Given the description of an element on the screen output the (x, y) to click on. 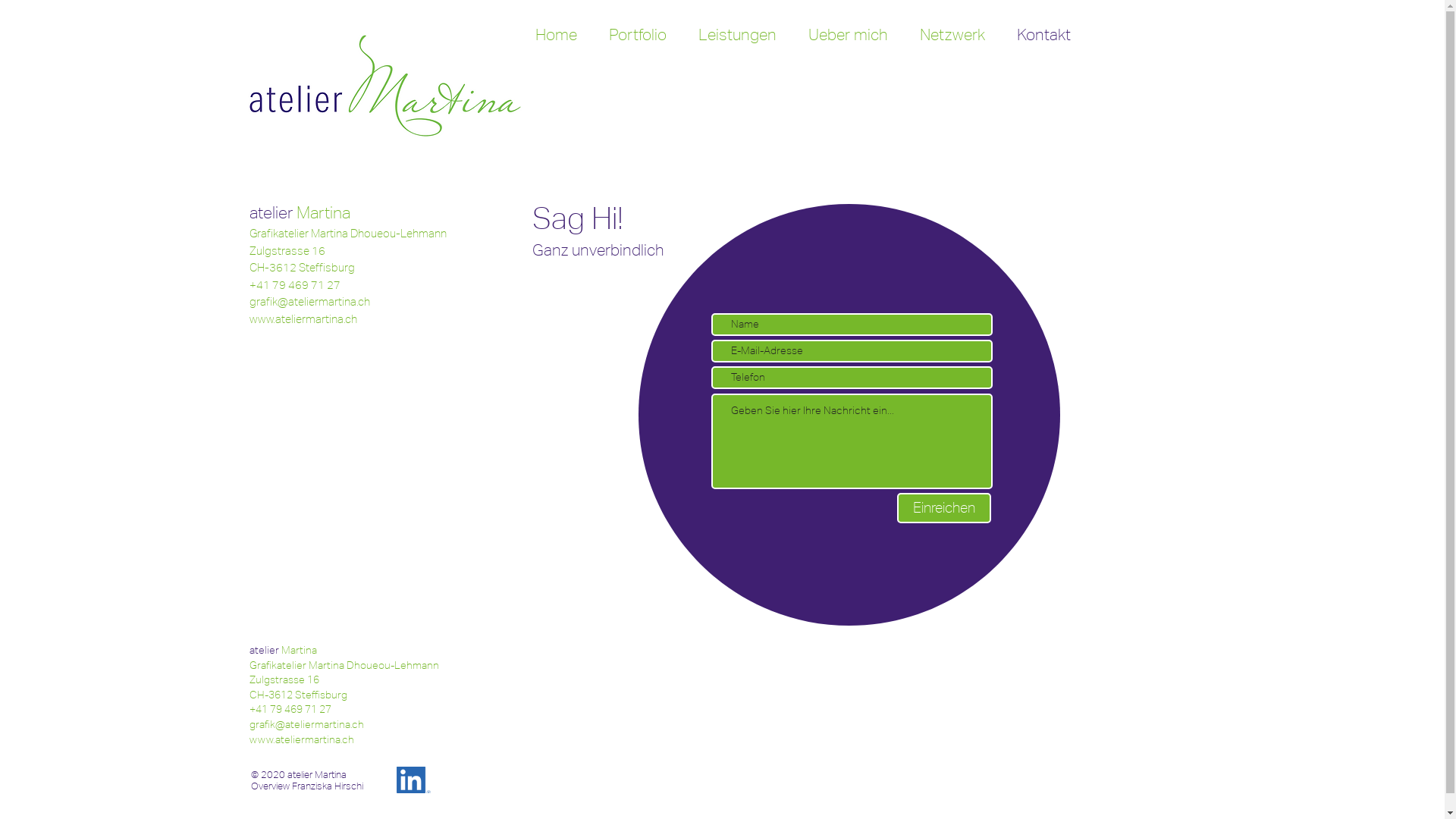
Kontakt Element type: text (1043, 34)
Leistungen Element type: text (737, 34)
Home Element type: text (555, 34)
Overview Franziska Hirschi Element type: text (306, 785)
Netzwerk Element type: text (952, 34)
Portfolio Element type: text (637, 34)
Ueber mich Element type: text (847, 34)
Einreichen Element type: text (943, 507)
www.ateliermartina.ch Element type: text (300, 739)
grafik@ateliermartina.ch Element type: text (305, 724)
